Given the description of an element on the screen output the (x, y) to click on. 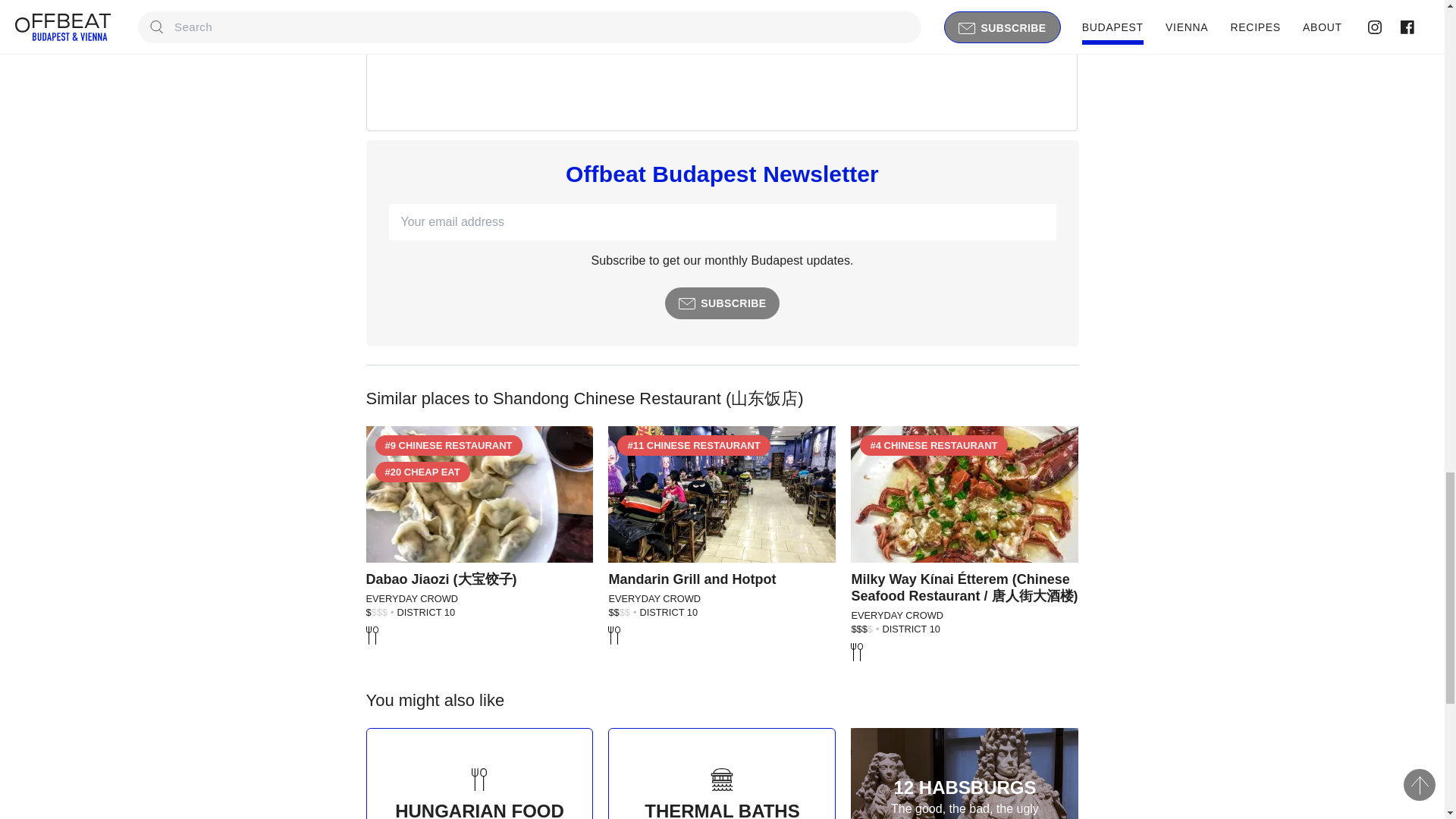
MAILICON OF A LETTERSUBSCRIBE (722, 303)
MAILICON OF A LETTER (686, 304)
